Given the description of an element on the screen output the (x, y) to click on. 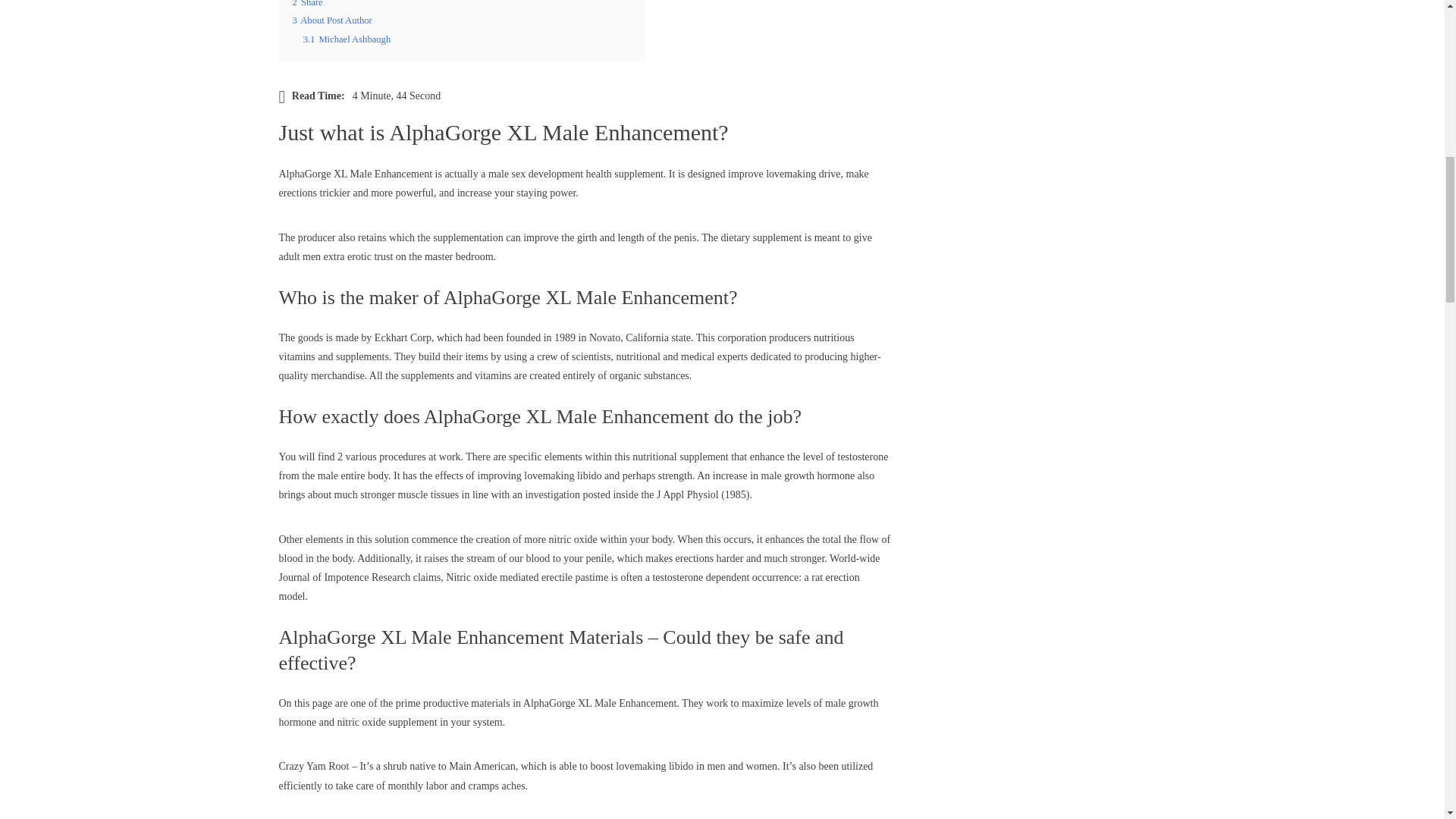
2 Share (307, 3)
3.1 Michael Ashbaugh (346, 39)
3 About Post Author (332, 20)
